Given the description of an element on the screen output the (x, y) to click on. 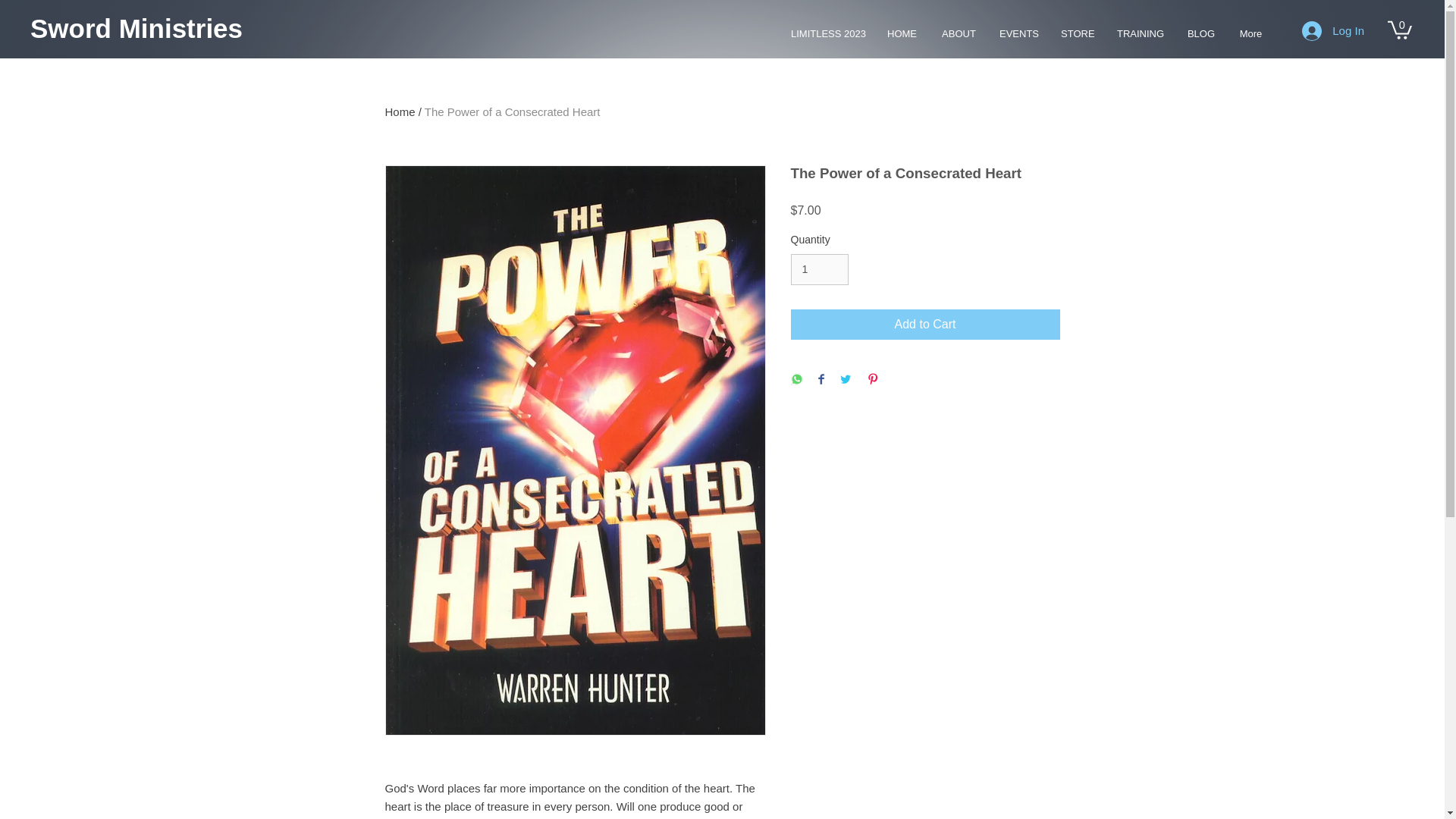
Add to Cart (924, 324)
BLOG (1200, 33)
Home (399, 111)
LIMITLESS 2023 (826, 33)
Log In (1332, 30)
The Power of a Consecrated Heart (512, 111)
HOME (902, 33)
1 (818, 269)
0 (1399, 28)
0 (1399, 28)
